Given the description of an element on the screen output the (x, y) to click on. 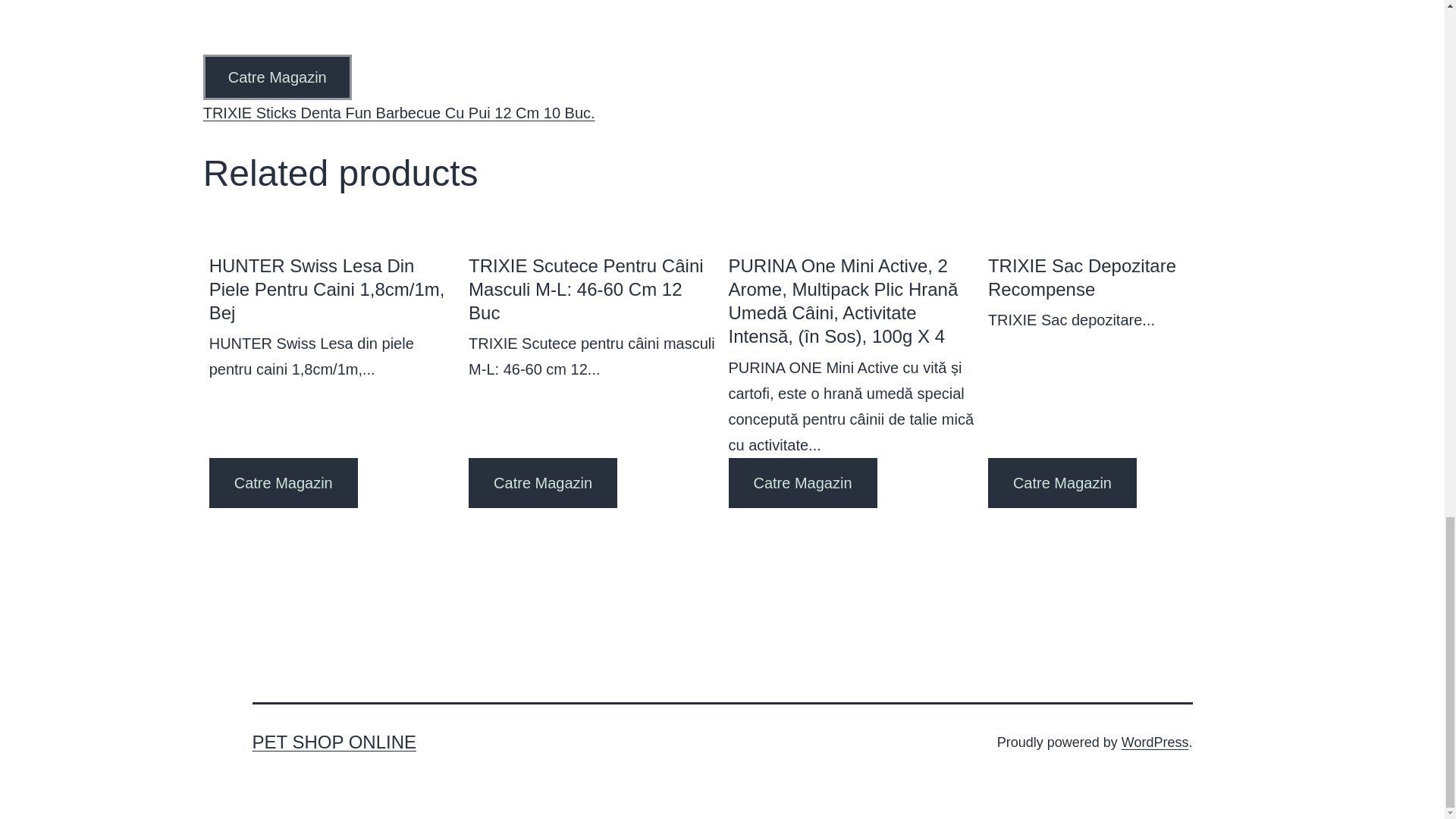
WordPress (1155, 742)
Catre Magazin (1111, 276)
PET SHOP ONLINE (277, 76)
TRIXIE Sticks Denta Fun Barbecue Cu Pui 12 Cm 10 Buc. (333, 742)
Catre Magazin (399, 112)
Catre Magazin (802, 482)
Catre Magazin (1062, 482)
Catre Magazin (542, 482)
